Given the description of an element on the screen output the (x, y) to click on. 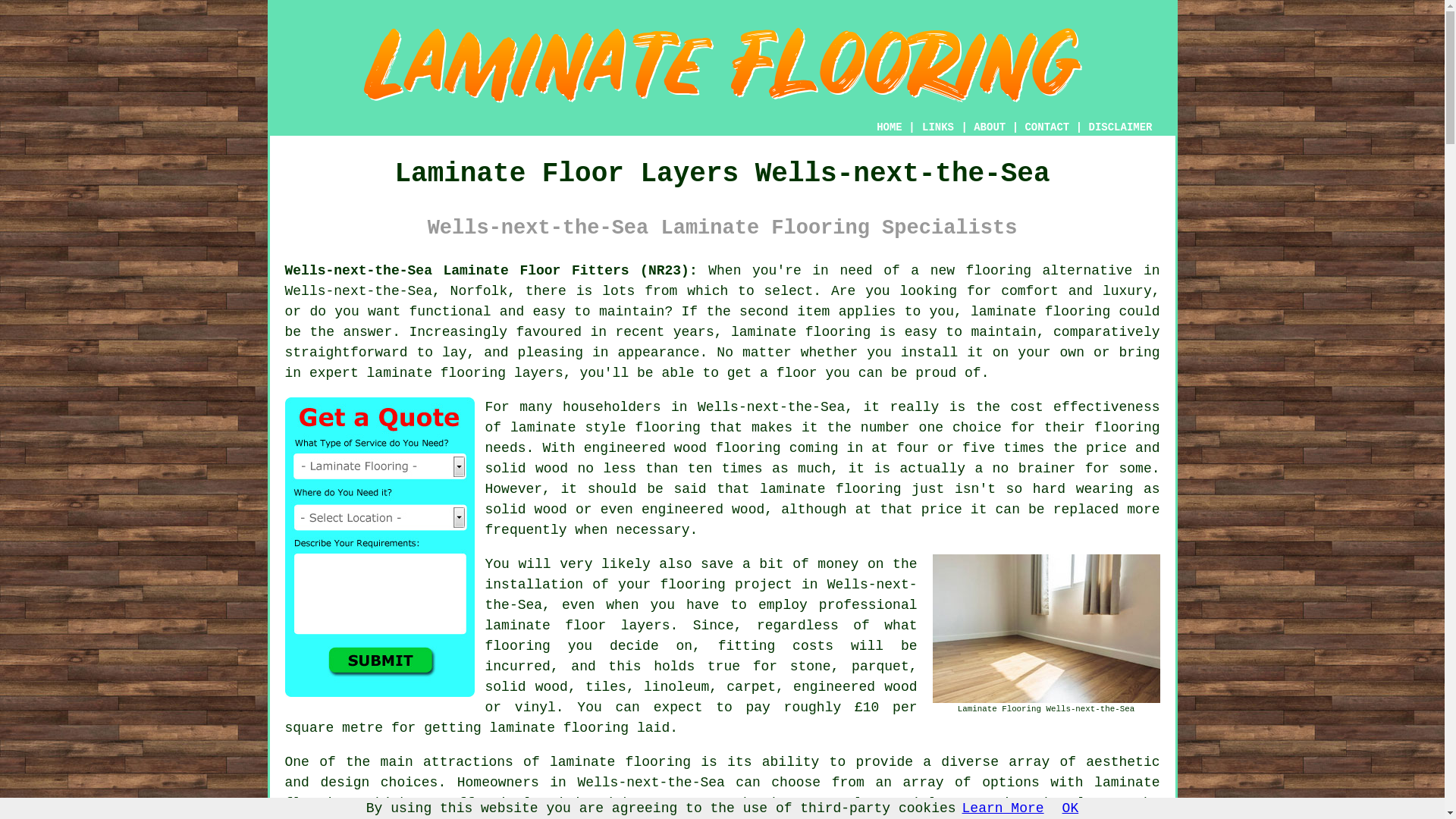
Laminate Floor Layers Wells-next-the-Sea (722, 65)
laminate flooring (620, 761)
laminate flooring layers (464, 372)
laminate floor layers (576, 625)
laminate flooring (1040, 311)
HOME (889, 127)
laminate flooring (830, 488)
LINKS (938, 127)
